Given the description of an element on the screen output the (x, y) to click on. 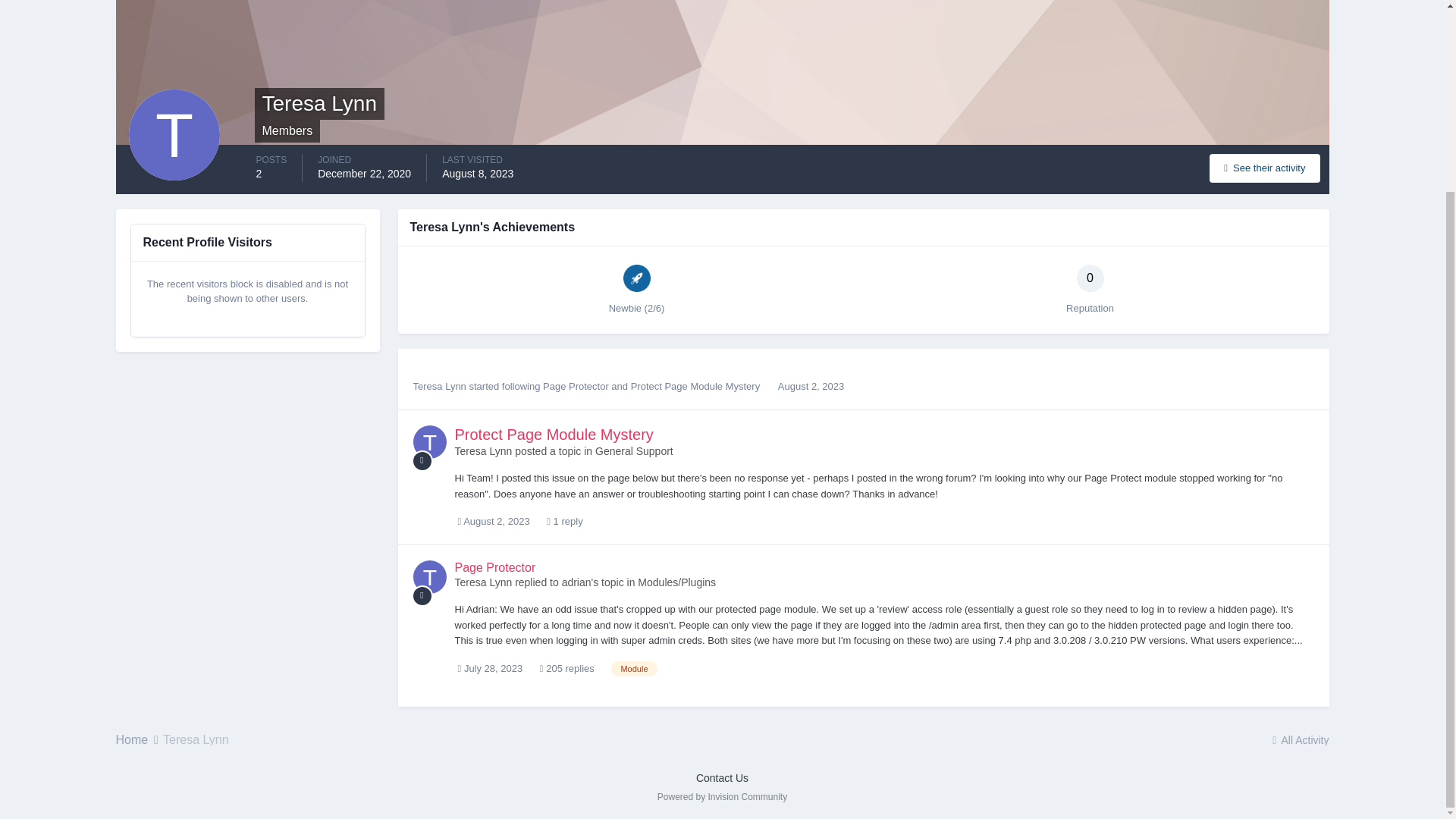
Neutral (1090, 277)
Post (421, 596)
Topic (421, 461)
Go to Teresa Lynn's profile (483, 451)
Go to Teresa Lynn's profile (428, 576)
Go to Teresa Lynn's profile (438, 386)
Teresa Lynn's Content (1264, 167)
Go to Teresa Lynn's profile (428, 441)
